Given the description of an element on the screen output the (x, y) to click on. 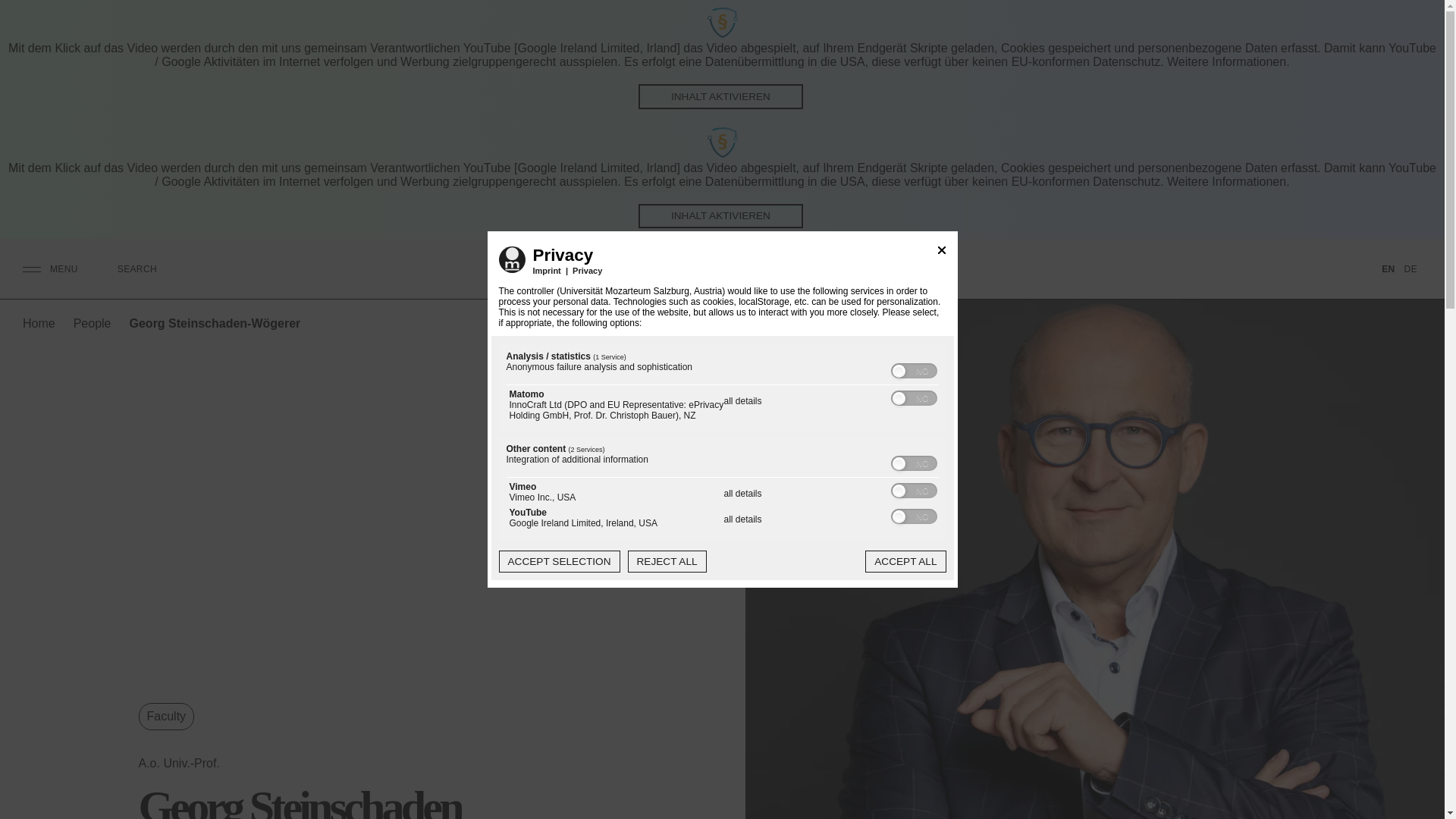
Change language to English (1388, 269)
MENU (50, 268)
DE (1410, 269)
SEARCH (140, 269)
Zu Deutsch wechseln (1410, 269)
INHALT AKTIVIEREN (721, 216)
Weitere Informationen (1226, 181)
EN (1388, 269)
INHALT AKTIVIEREN (721, 96)
Weitere Informationen (1226, 61)
